Given the description of an element on the screen output the (x, y) to click on. 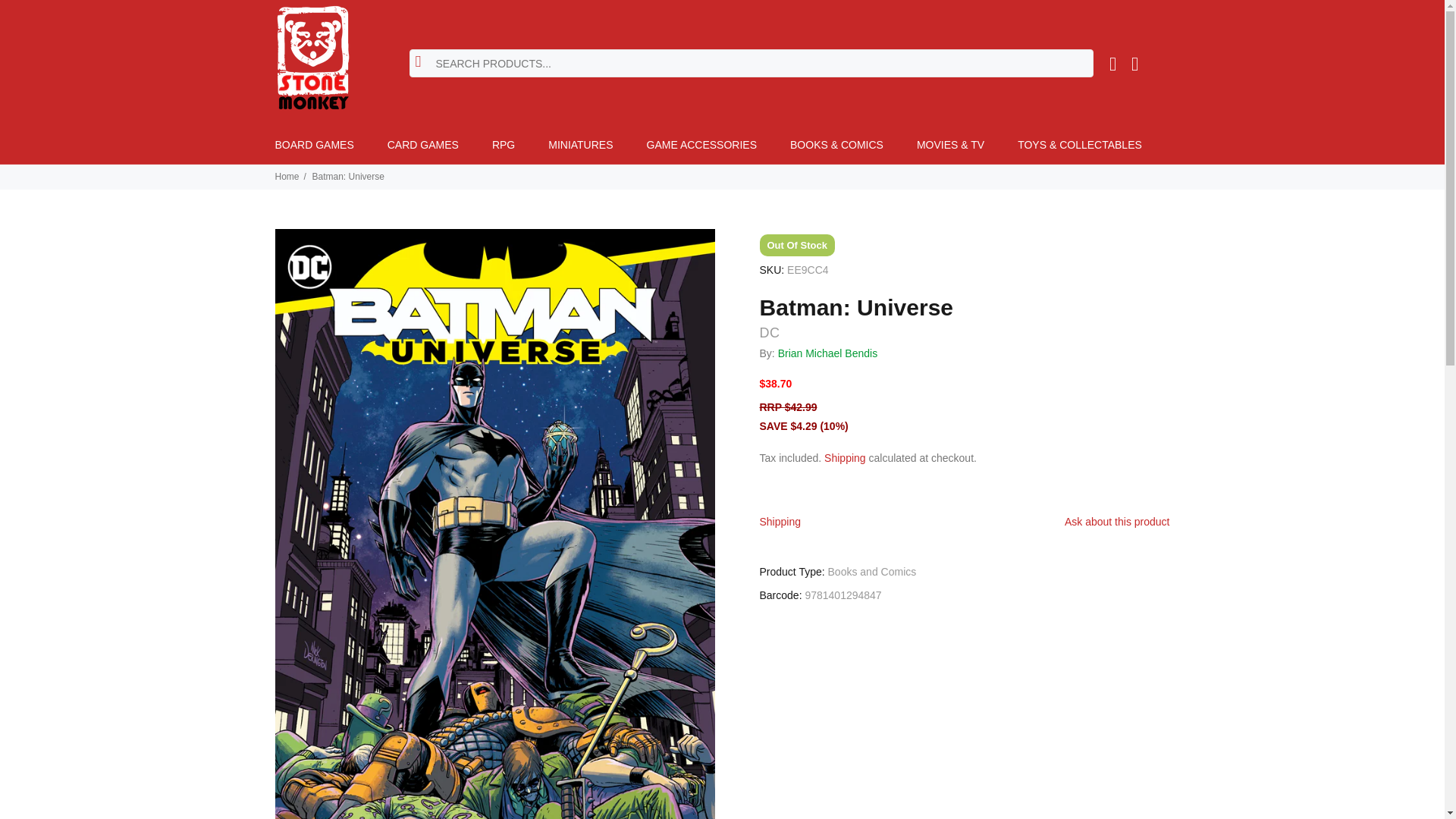
DC (770, 332)
